Given the description of an element on the screen output the (x, y) to click on. 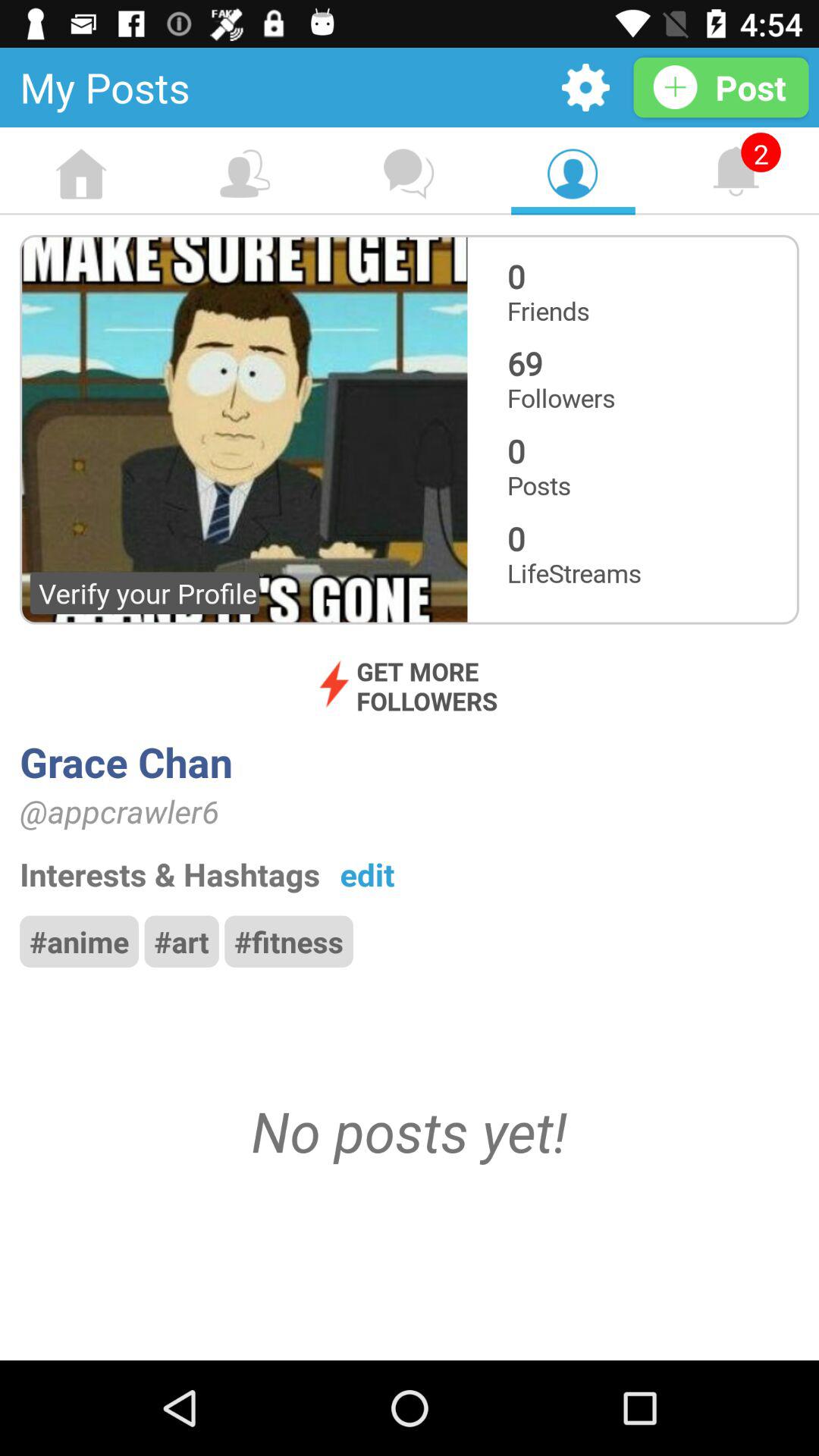
turn off the item above no posts yet! item (181, 941)
